Given the description of an element on the screen output the (x, y) to click on. 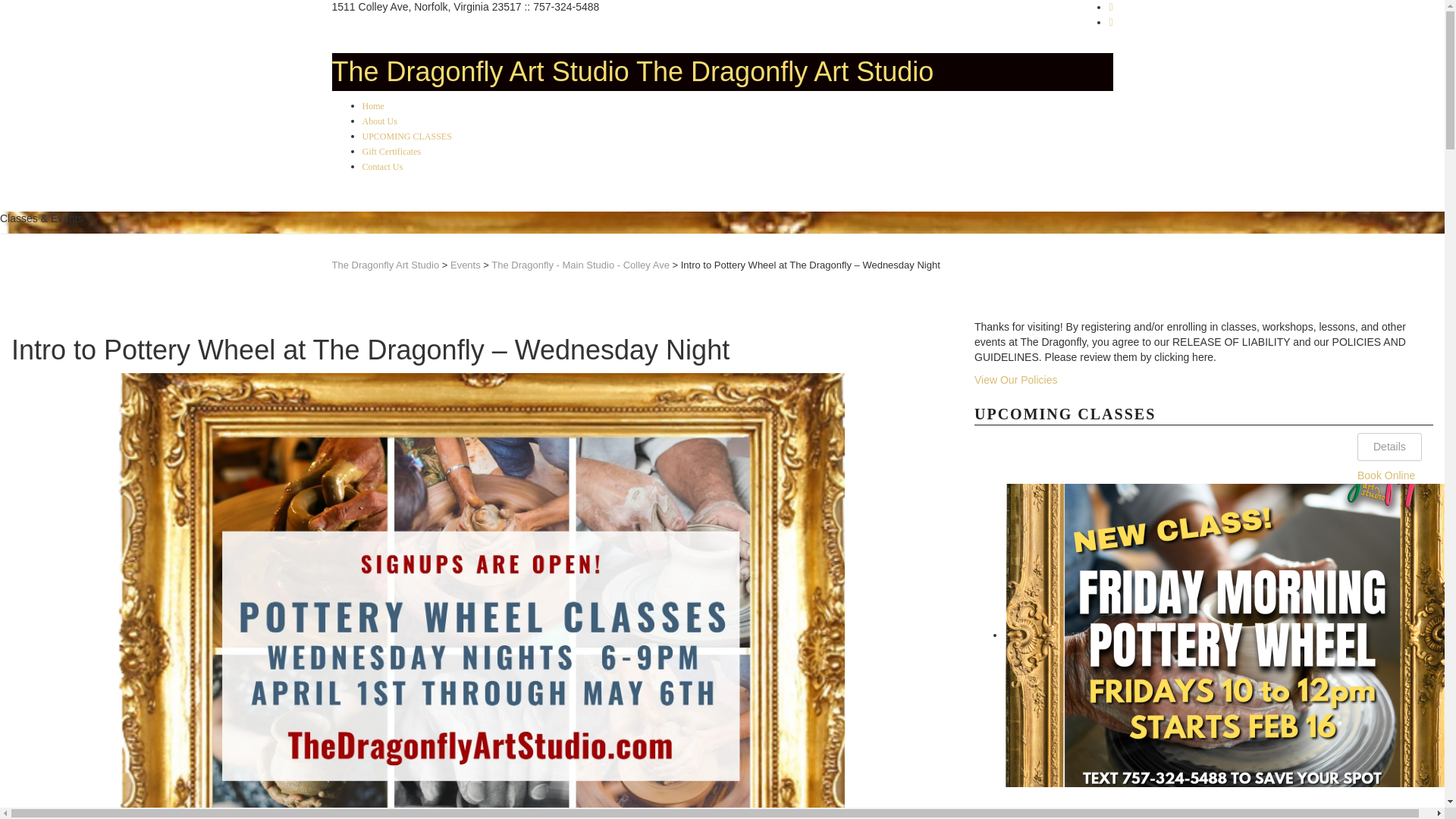
Go to The Dragonfly Art Studio. (385, 265)
The Dragonfly - Main Studio - Colley Ave (580, 265)
UPCOMING CLASSES (406, 136)
Go to Events. (464, 265)
Book Online (1385, 475)
The Dragonfly Art Studio (784, 71)
Details (1389, 447)
Gift Certificates (392, 151)
The Dragonfly Art Studio (385, 265)
The Dragonfly Art Studio (479, 71)
Events (464, 265)
Contact Us (382, 165)
View Our Policies (1015, 379)
The Dragonfly Art Studio (479, 71)
